Given the description of an element on the screen output the (x, y) to click on. 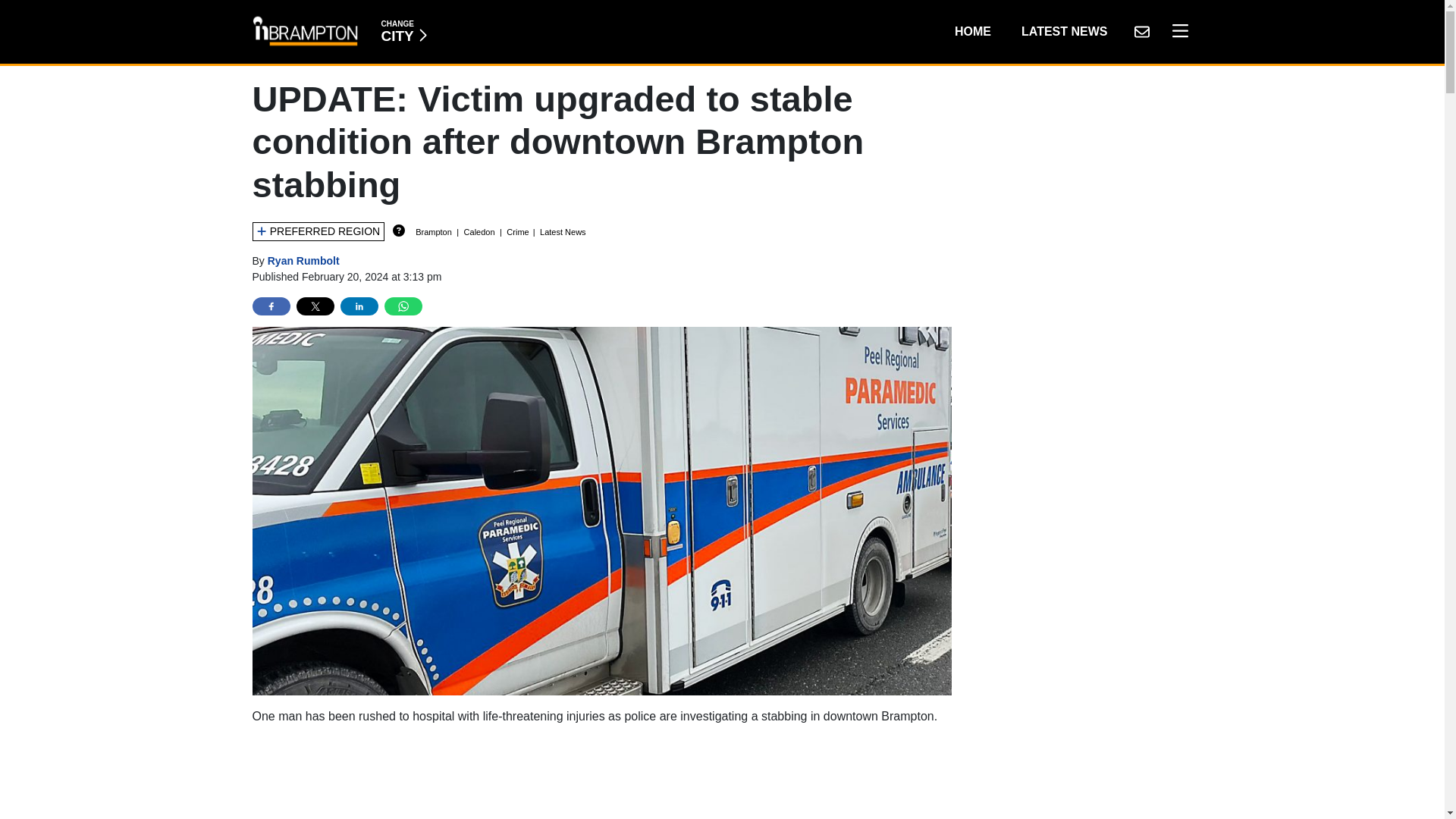
3rd party ad content (601, 778)
SIGN UP FOR OUR NEWSLETTER (402, 31)
LATEST NEWS (1141, 31)
OPEN MENU (1064, 31)
HOME (1176, 31)
Posts by 956 (972, 31)
